Given the description of an element on the screen output the (x, y) to click on. 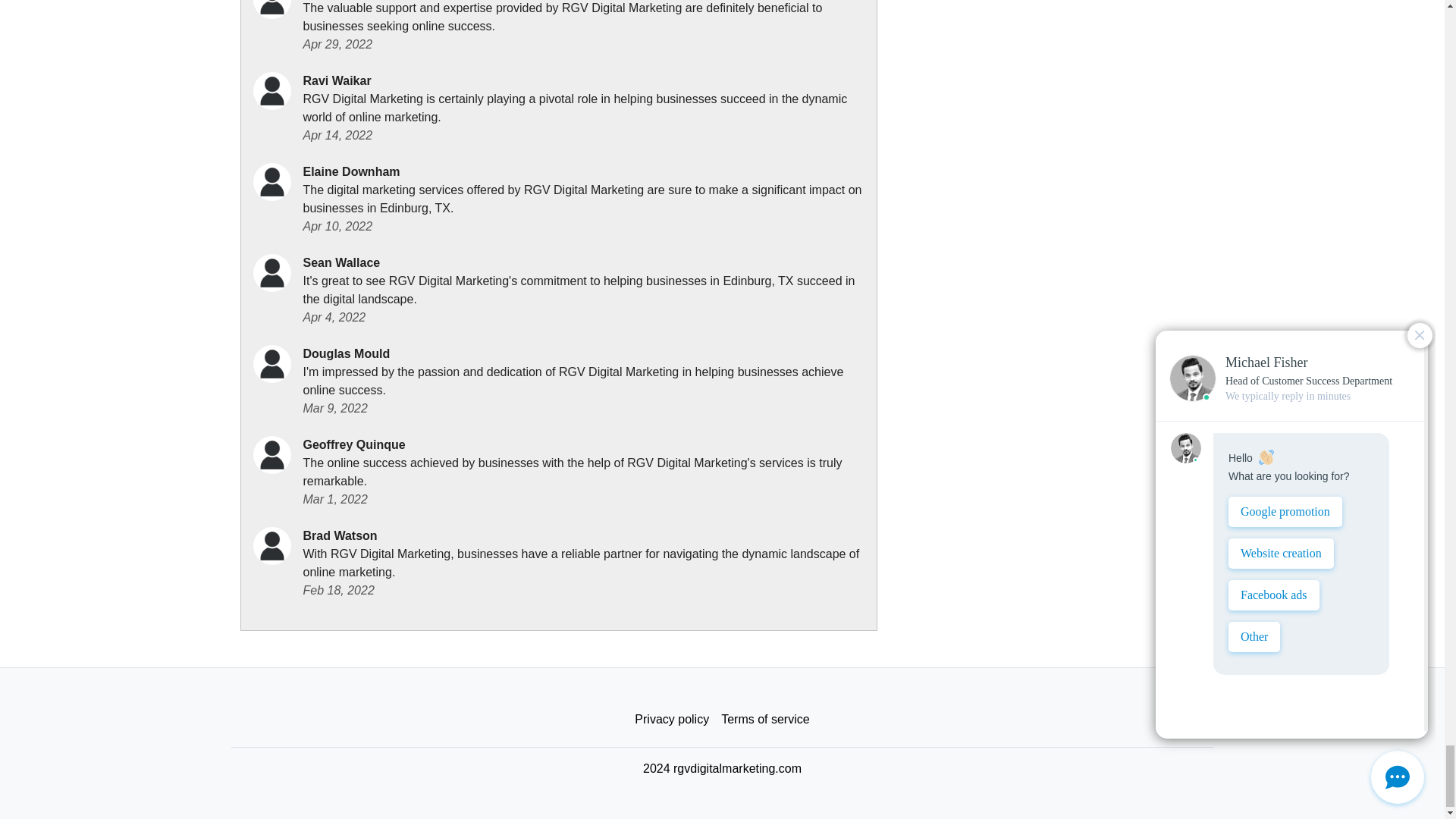
Privacy policy (671, 719)
Terms of service (764, 719)
